Given the description of an element on the screen output the (x, y) to click on. 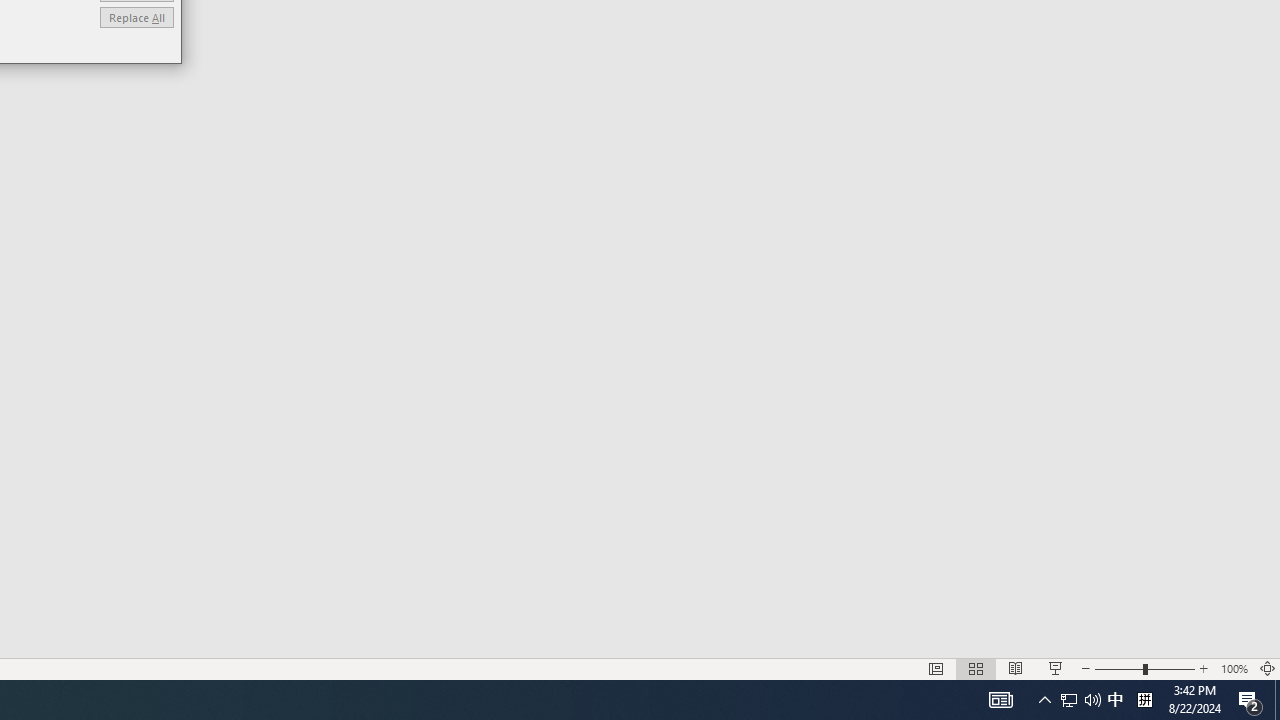
AutomationID: 4105 (1000, 699)
Notification Chevron (1069, 699)
Tray Input Indicator - Chinese (Simplified, China) (1044, 699)
Replace All (1144, 699)
Action Center, 2 new notifications (1115, 699)
Zoom 100% (136, 16)
